Given the description of an element on the screen output the (x, y) to click on. 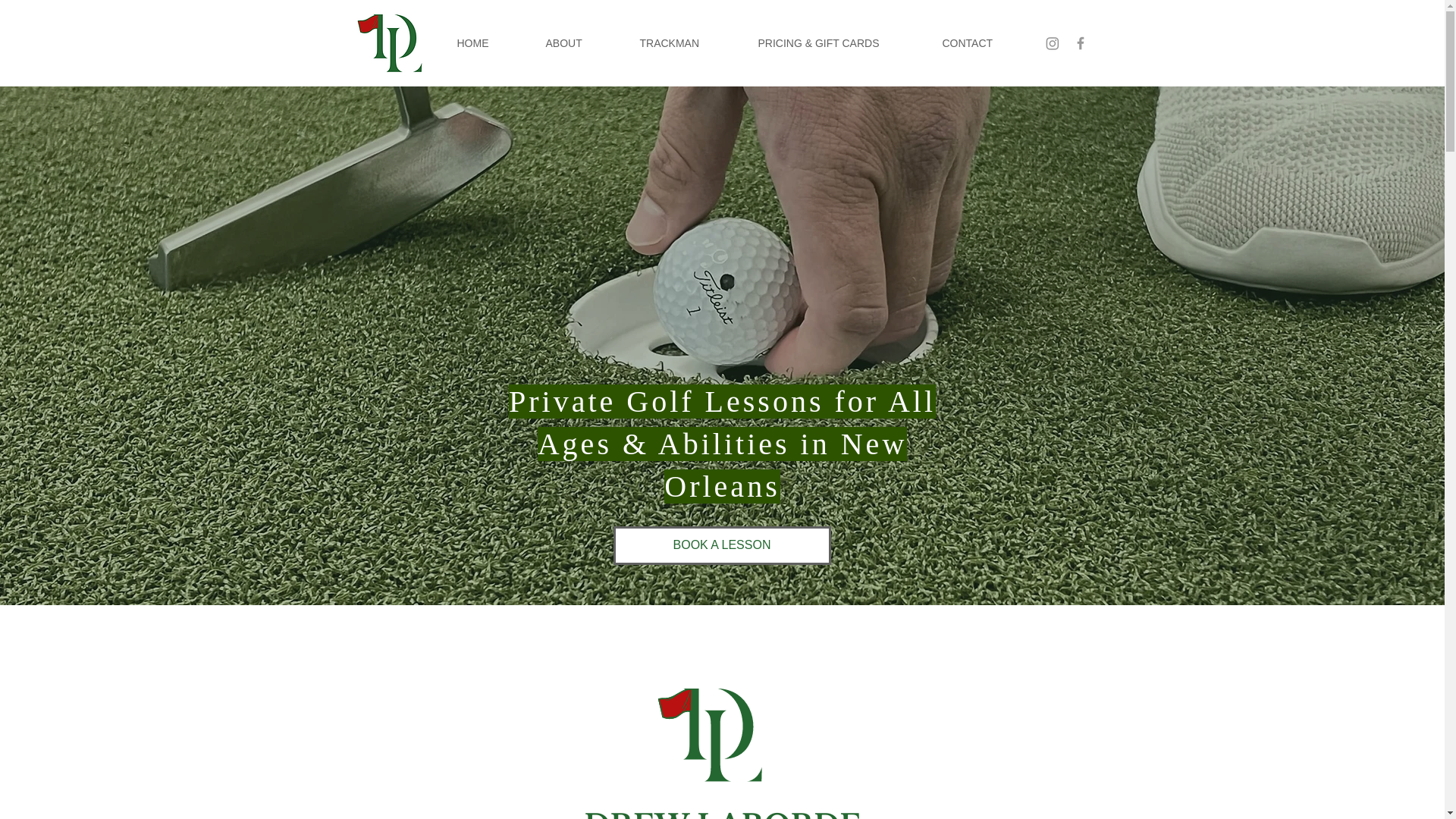
TRACKMAN (686, 42)
ABOUT (580, 42)
CONTACT (985, 42)
BOOK A LESSON (720, 545)
HOME (489, 42)
